Given the description of an element on the screen output the (x, y) to click on. 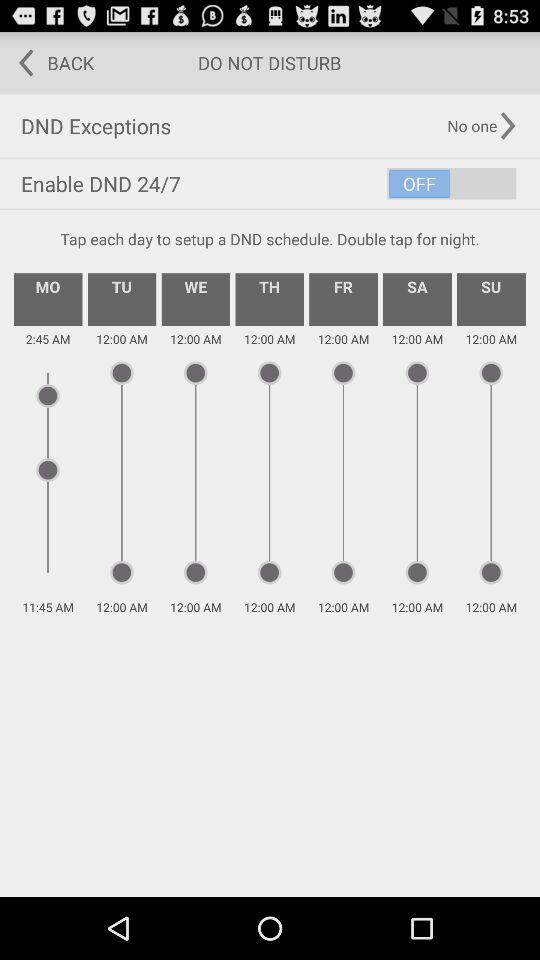
turn on the icon below tap each day app (121, 299)
